Given the description of an element on the screen output the (x, y) to click on. 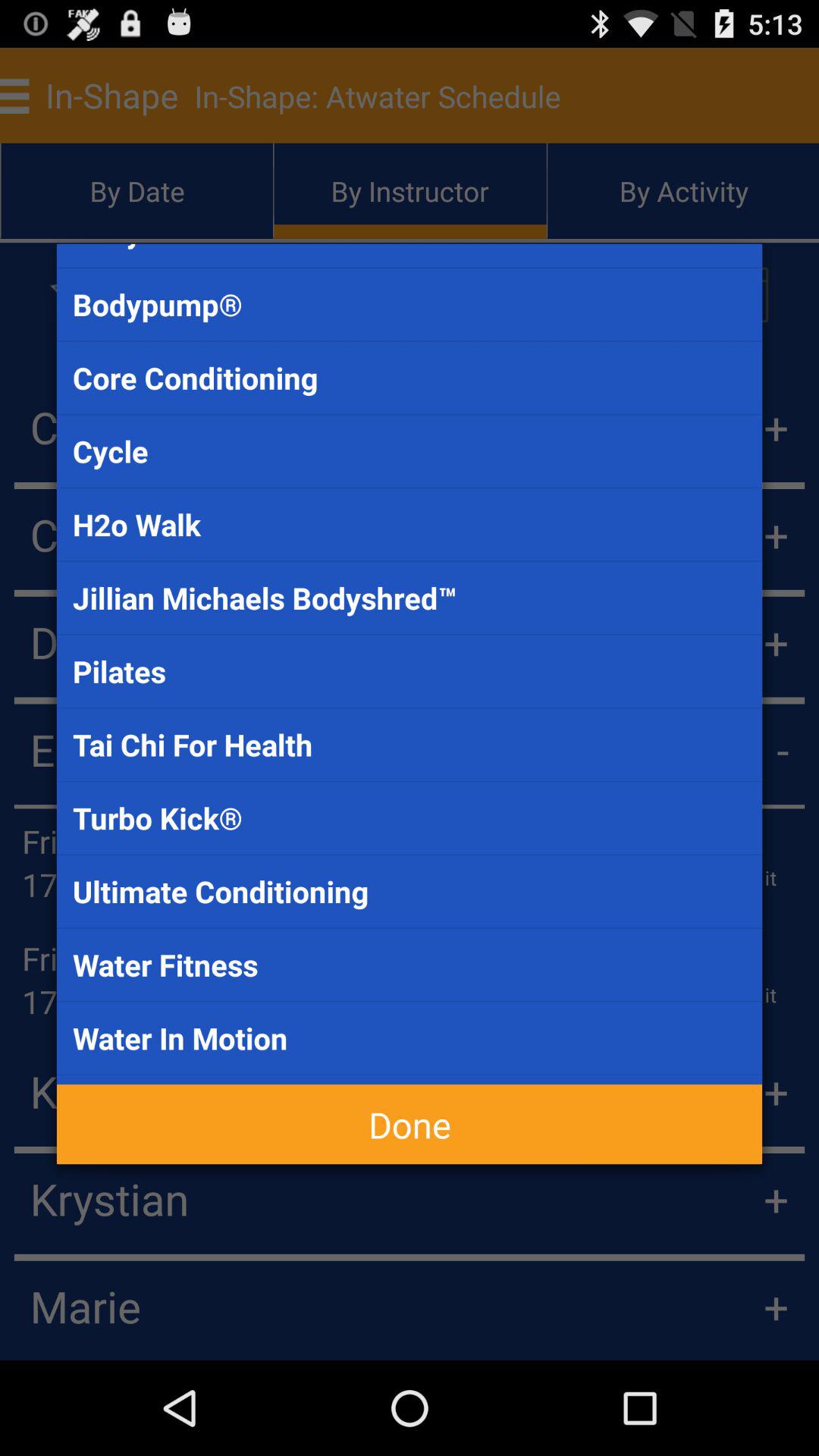
tap the ultimate conditioning app (409, 891)
